Given the description of an element on the screen output the (x, y) to click on. 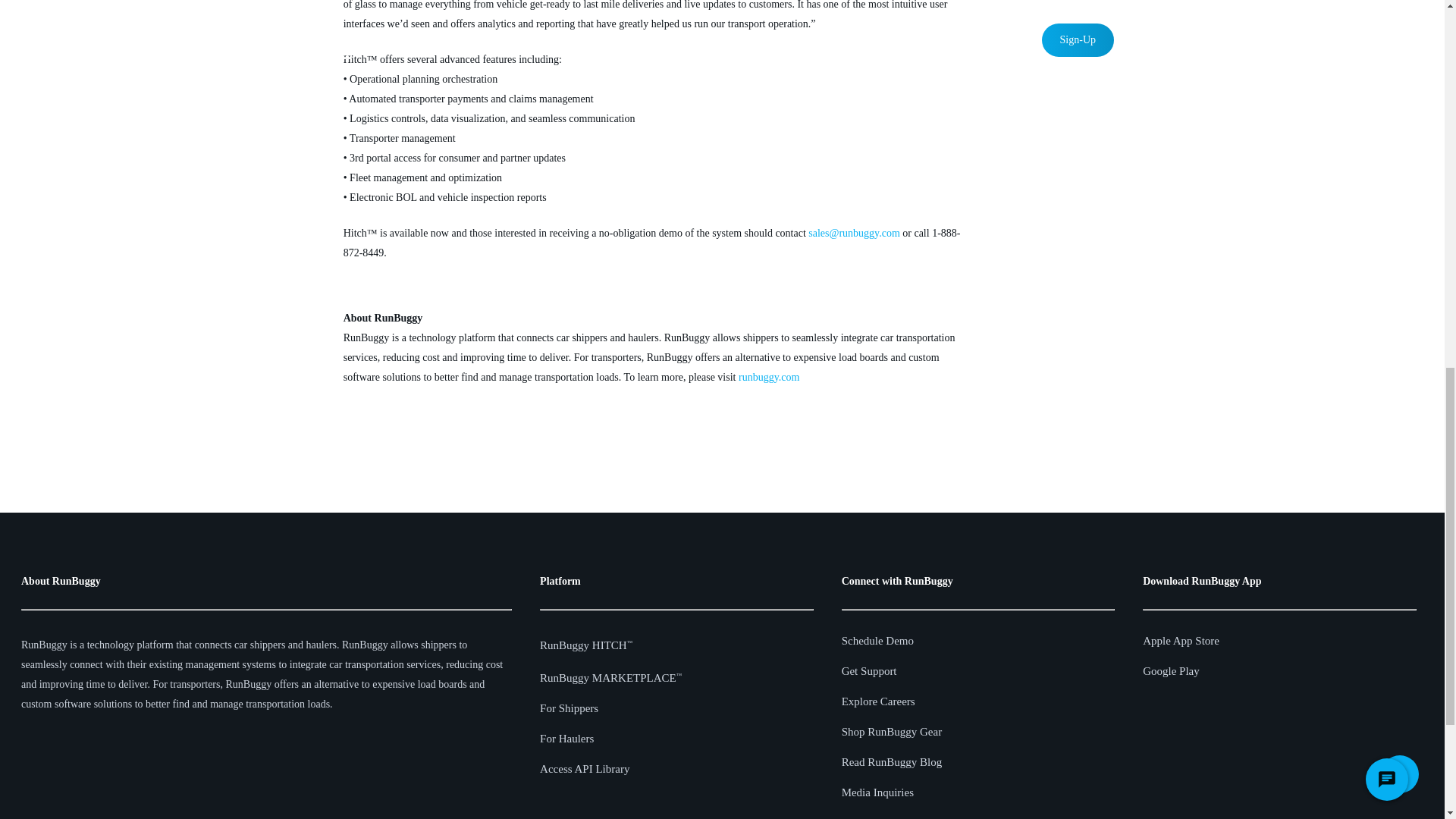
runbuggy.com (768, 377)
